Given the description of an element on the screen output the (x, y) to click on. 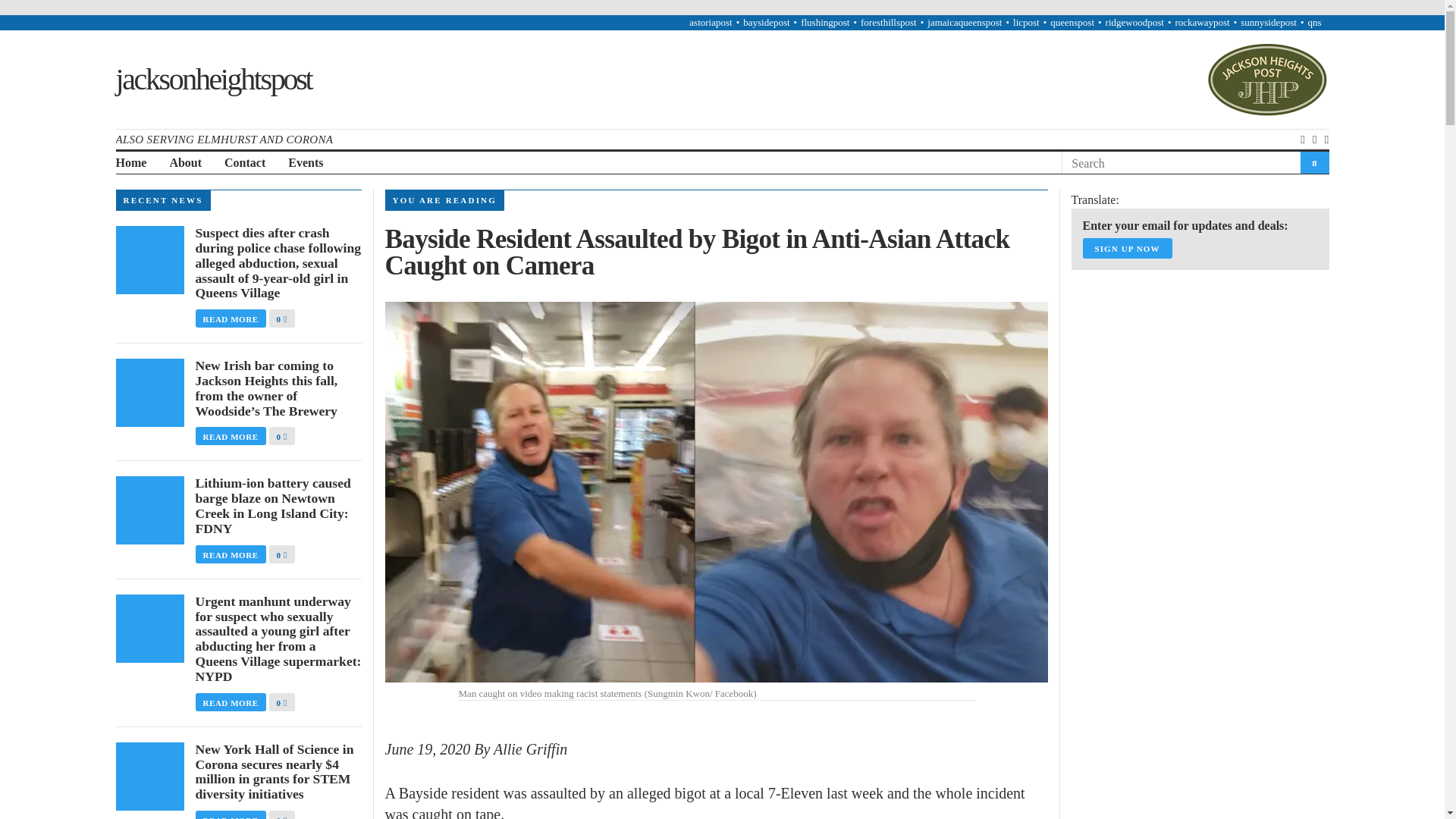
jamaicaqueenspost (964, 21)
qns (1313, 21)
About (185, 163)
sunnysidepost (1268, 21)
jacksonheightspost (213, 79)
ridgewoodpost (1134, 21)
baysidepost (765, 21)
Contact (244, 163)
Events (305, 163)
flushingpost (824, 21)
